Given the description of an element on the screen output the (x, y) to click on. 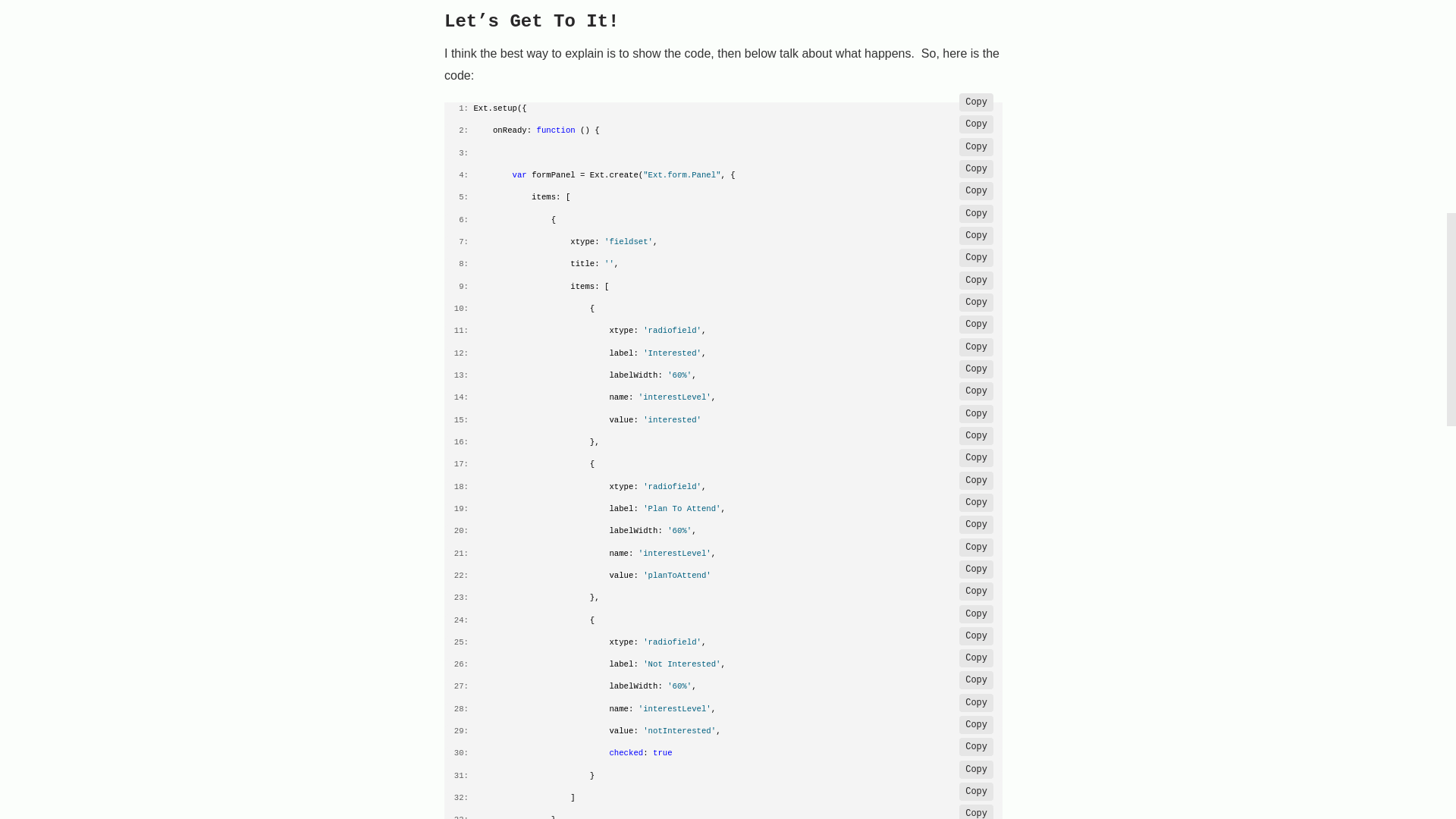
Copy (975, 369)
Copy (975, 102)
Copy (975, 547)
Copy (975, 168)
Copy (975, 190)
Copy (975, 147)
Copy (975, 591)
Copy (975, 391)
Copy (975, 524)
Copy (975, 457)
